Given the description of an element on the screen output the (x, y) to click on. 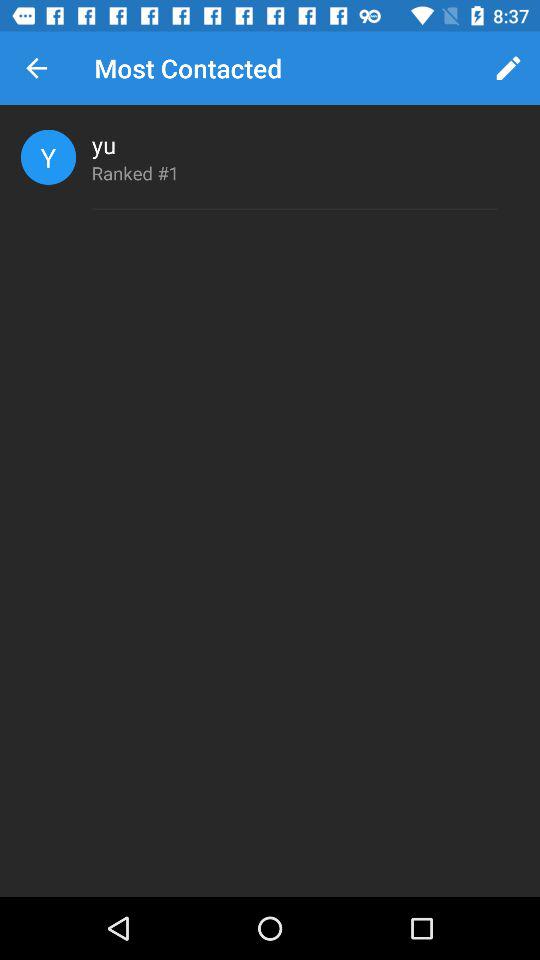
flip until the ranked #1 item (135, 172)
